Given the description of an element on the screen output the (x, y) to click on. 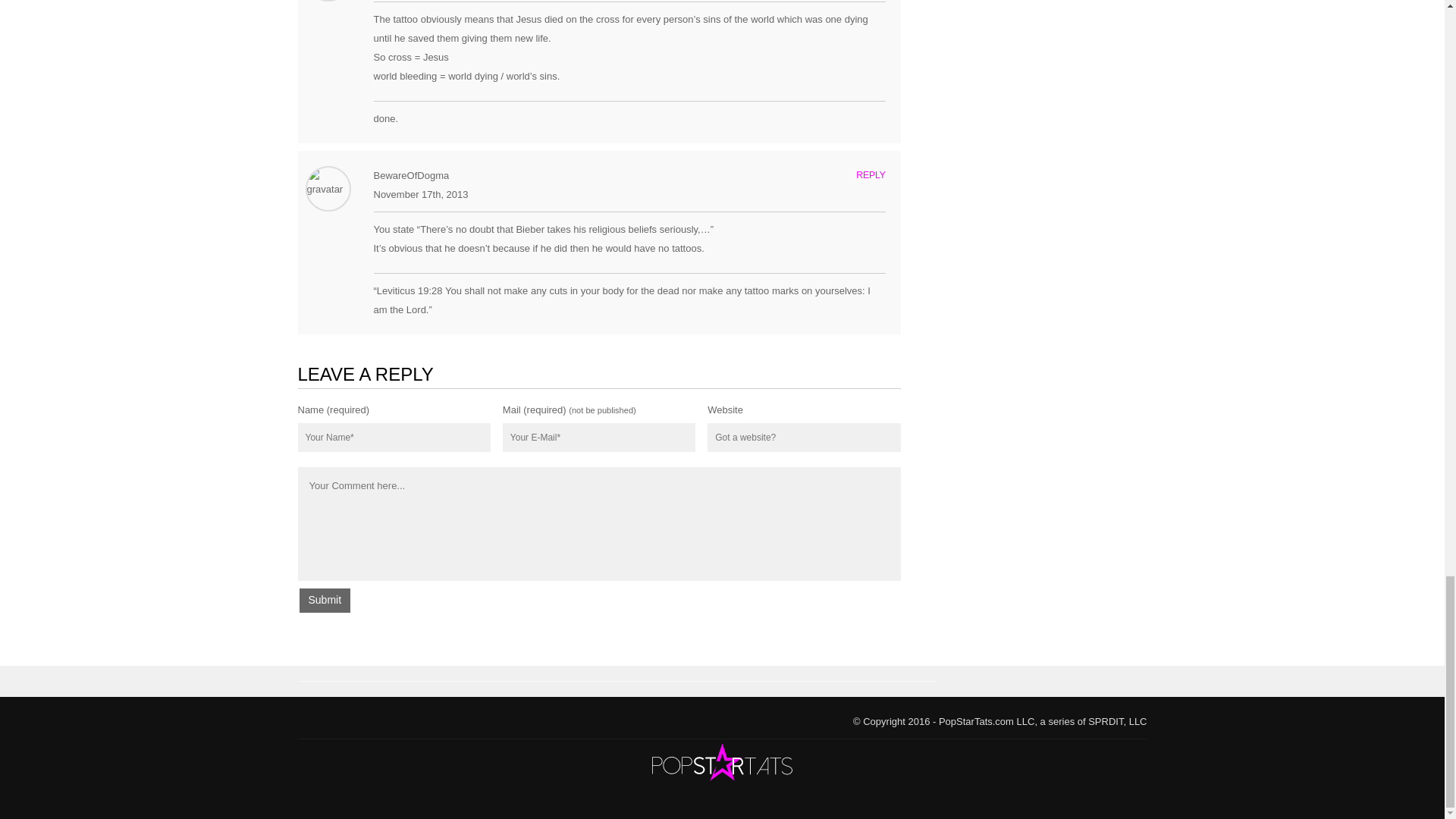
Submit (324, 600)
